Given the description of an element on the screen output the (x, y) to click on. 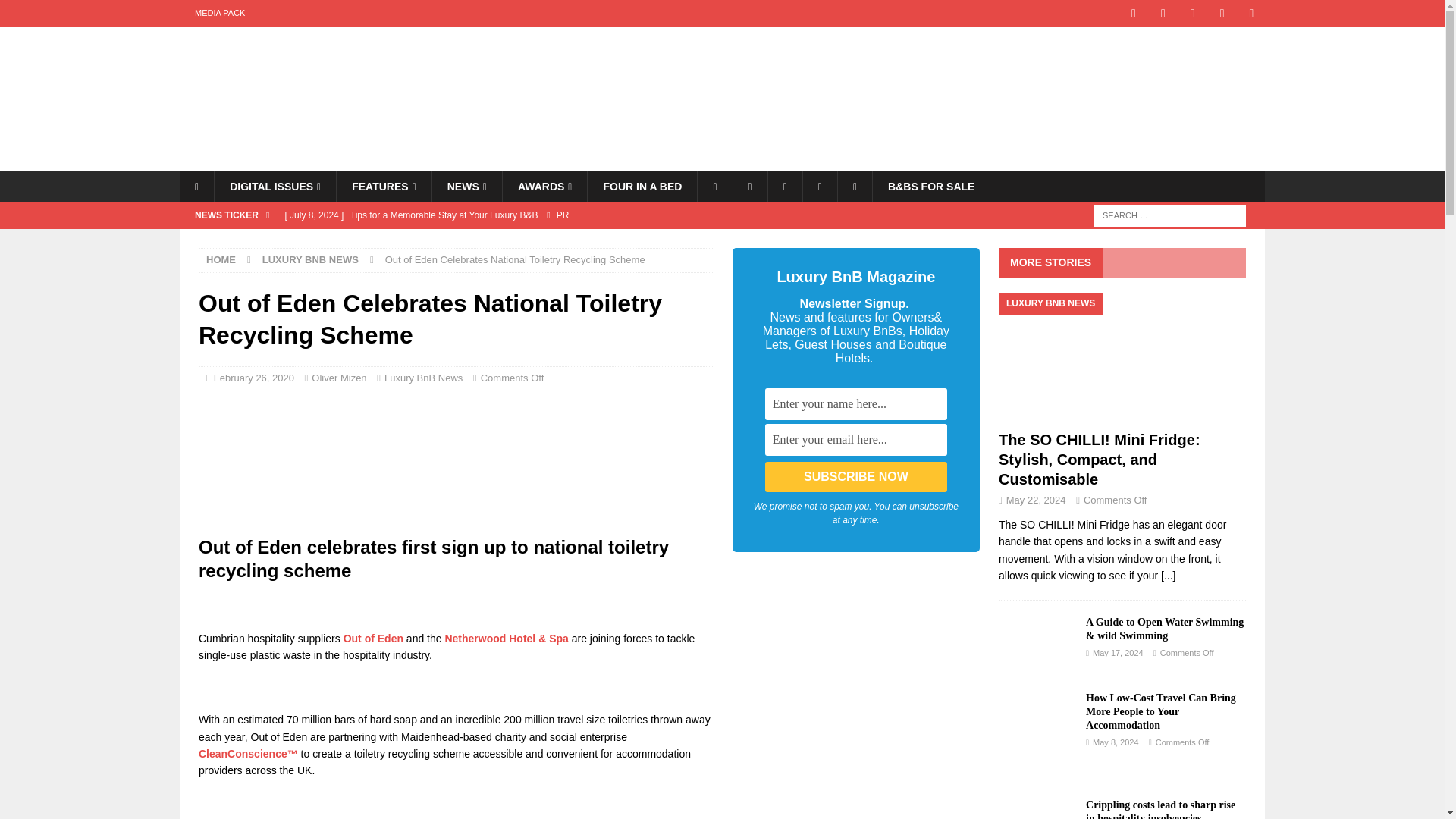
Group Master Shot - Netherwood and OOE (455, 463)
MEDIA PACK (219, 13)
Luxury BnB Awards (545, 186)
Subscribe Now (856, 476)
Luxury BnB Magazine News (466, 186)
Luxury BnB Magazine on LinkedIn (1252, 13)
DIGITAL ISSUES (275, 186)
FEATURES (383, 186)
Facebook (714, 186)
